Given the description of an element on the screen output the (x, y) to click on. 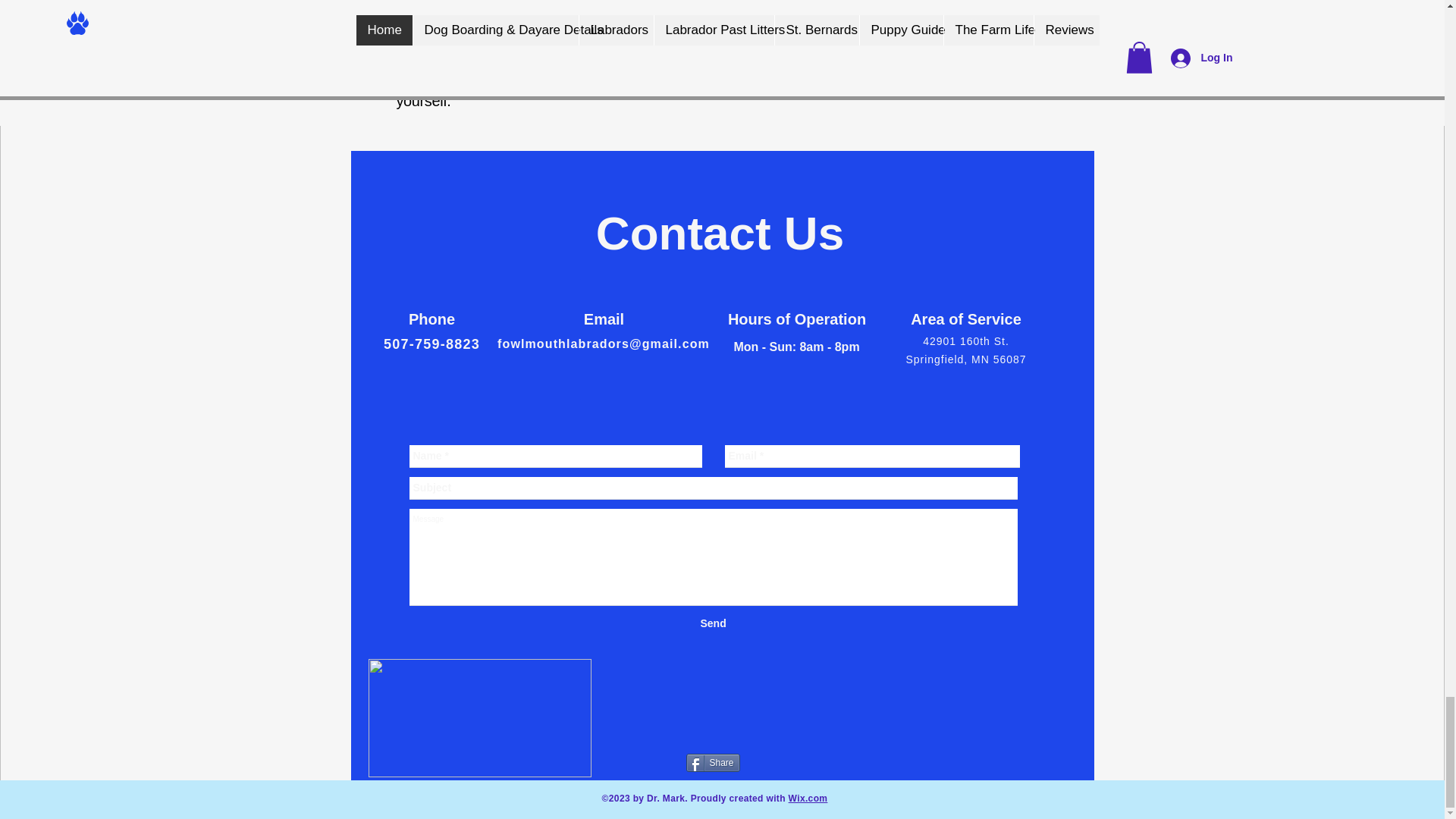
Send (713, 622)
Share (712, 762)
Share (712, 762)
Wix.com (808, 798)
